Given the description of an element on the screen output the (x, y) to click on. 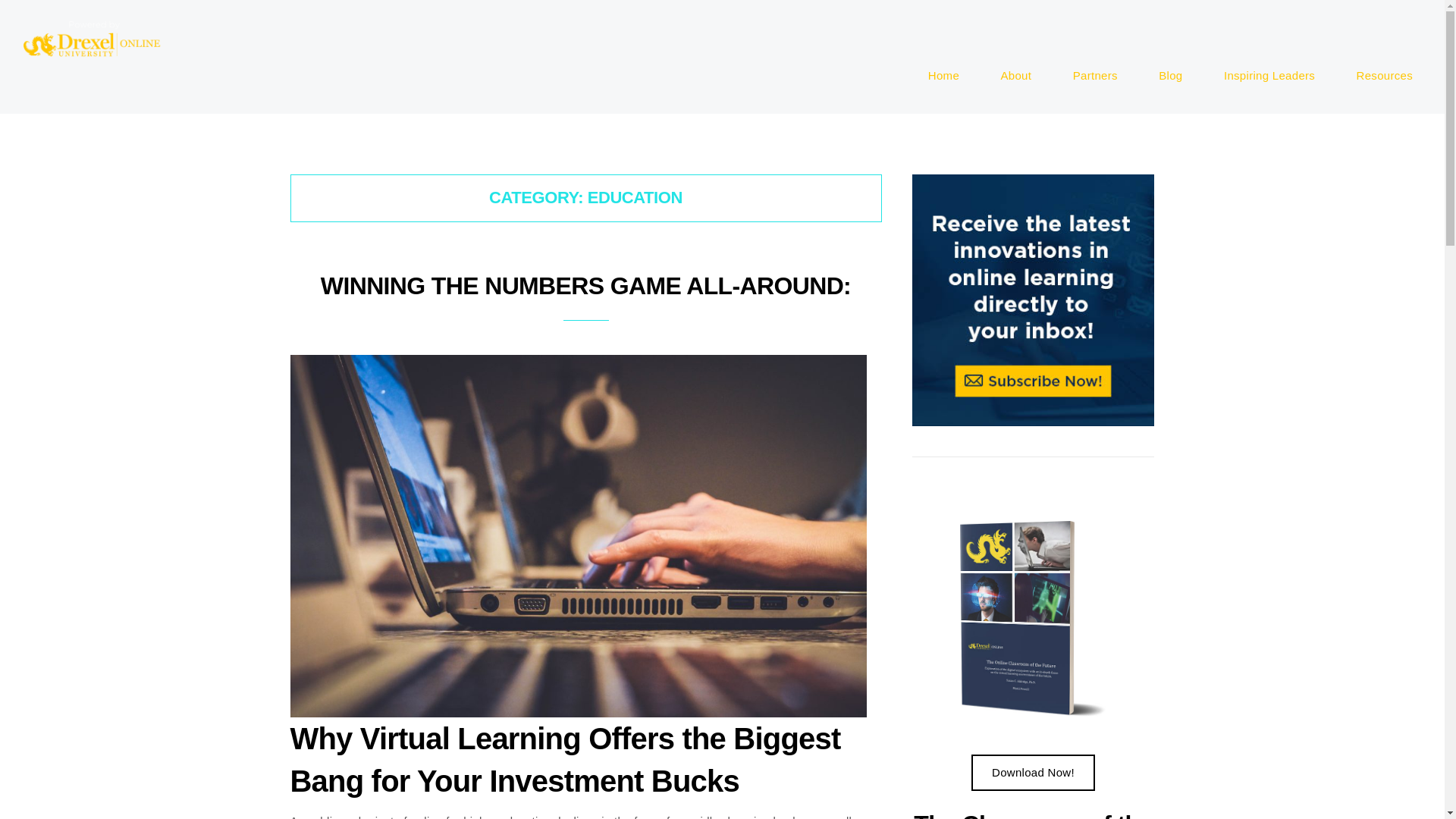
Home (953, 75)
Download Now! (1032, 772)
Partners (1175, 75)
About (1095, 75)
Blog (1016, 75)
Inspiring Leaders (1170, 75)
WINNING THE NUMBERS GAME ALL-AROUND: (1269, 75)
Resources (585, 285)
